Given the description of an element on the screen output the (x, y) to click on. 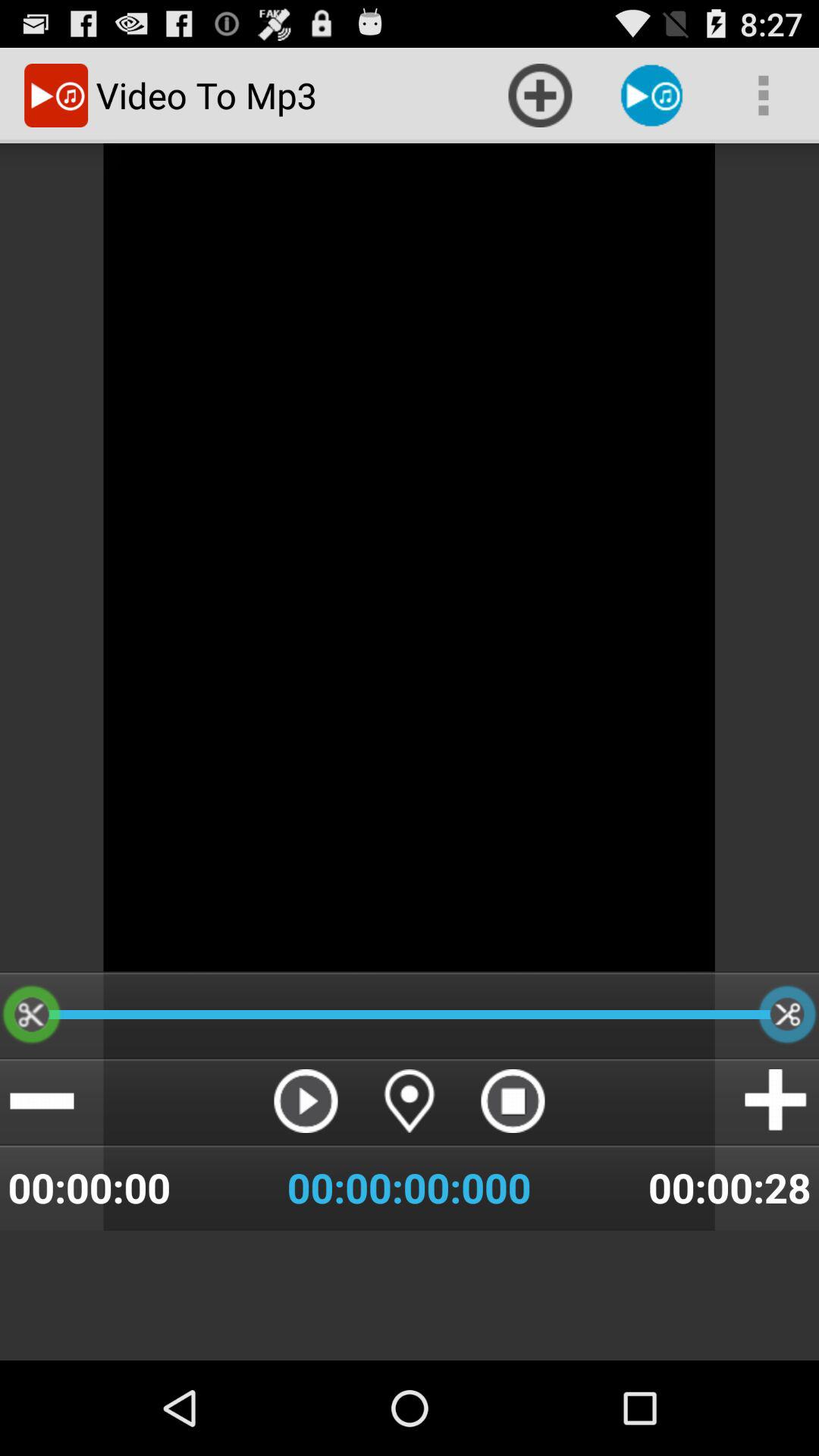
click icon above 00 00 00 (512, 1100)
